Given the description of an element on the screen output the (x, y) to click on. 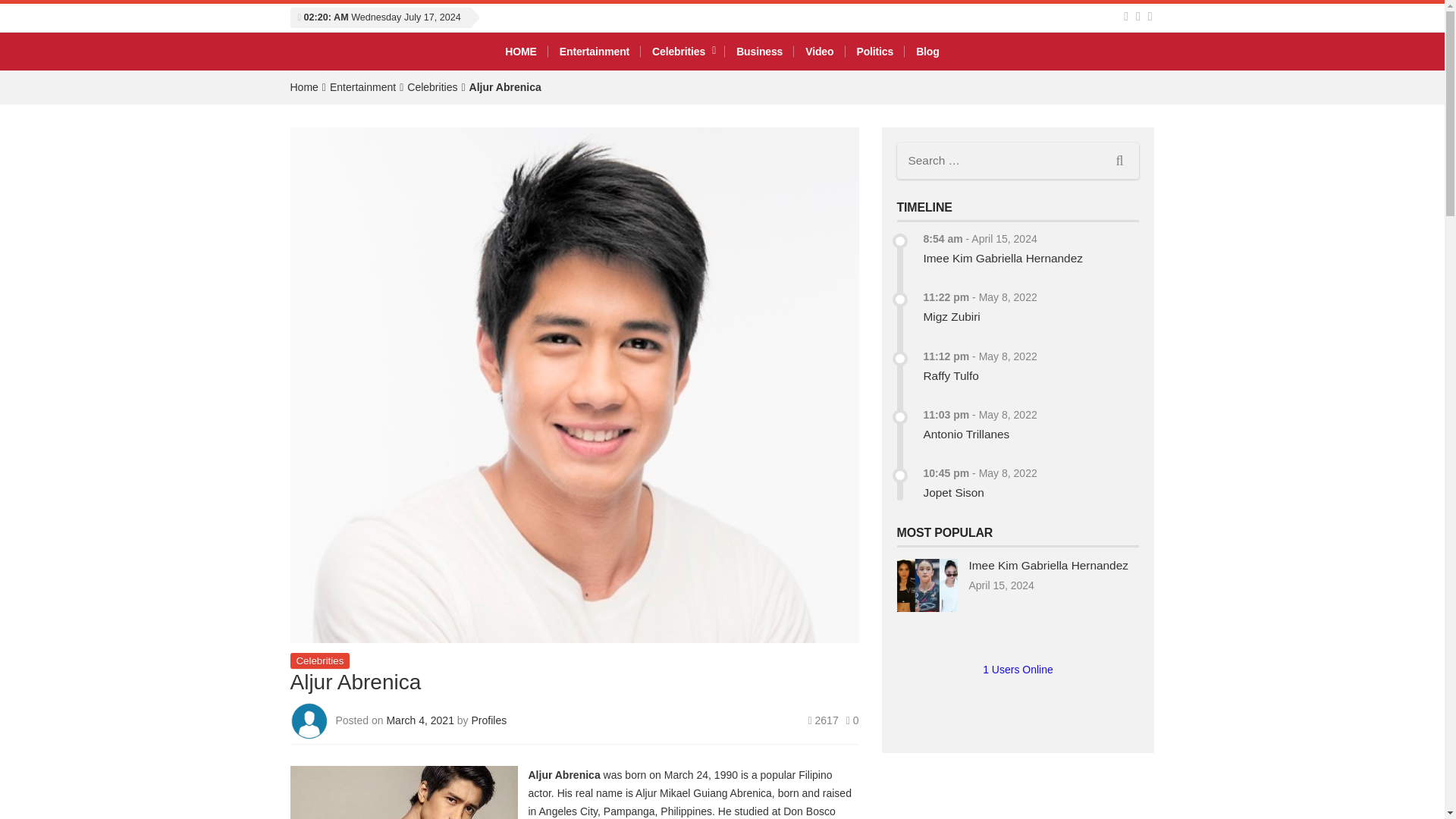
Video (818, 51)
Entertainment (594, 51)
Celebrities (319, 660)
Celebrities (432, 87)
Celebrities (682, 51)
Aljur Abrenica (504, 87)
Blog (927, 51)
Business (759, 51)
March 4, 2021 (421, 720)
0 (852, 720)
HOME (520, 51)
Profiles (488, 720)
Home (303, 87)
Politics (874, 51)
Home (303, 87)
